Given the description of an element on the screen output the (x, y) to click on. 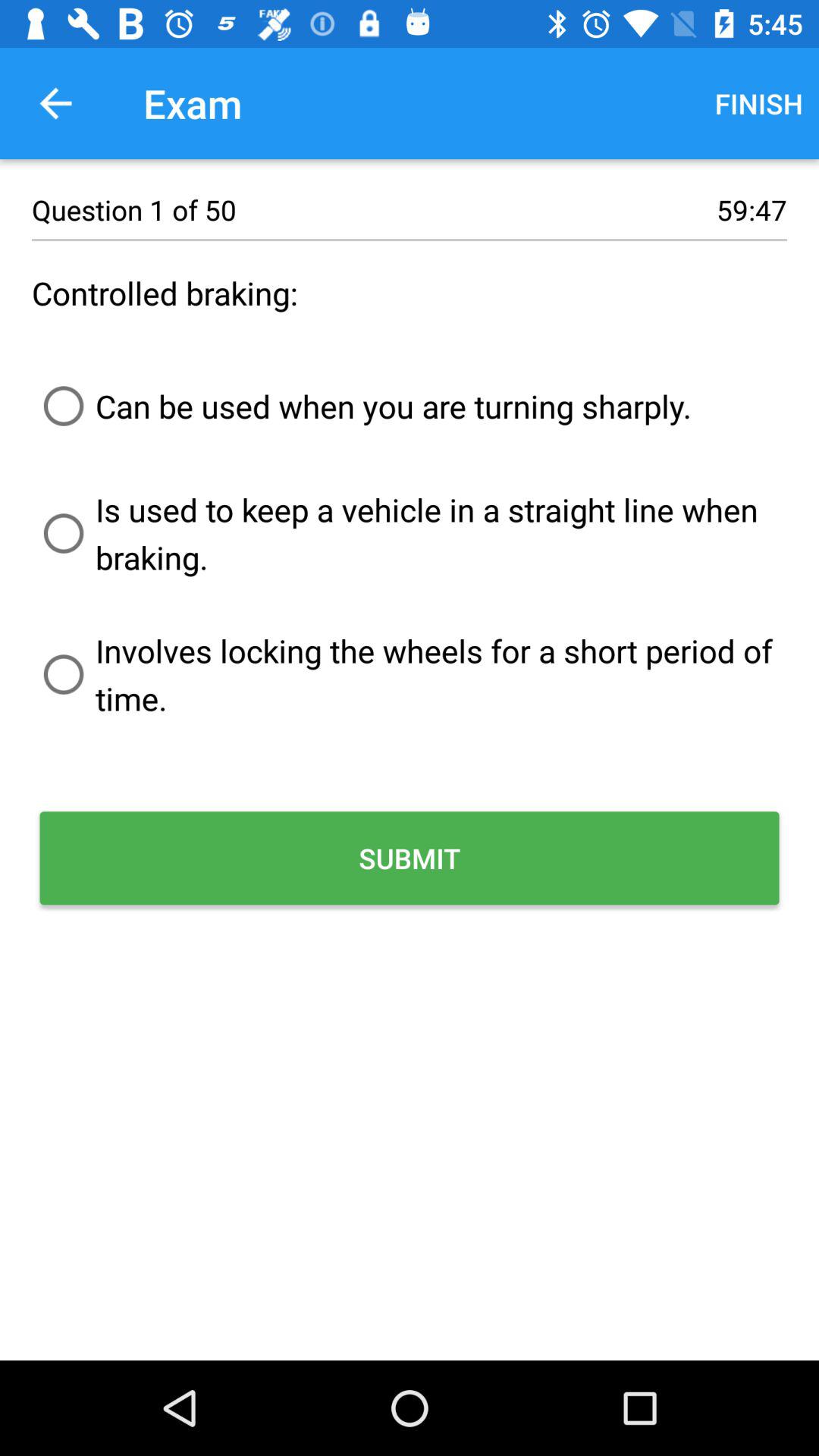
turn off icon above submit (409, 674)
